Given the description of an element on the screen output the (x, y) to click on. 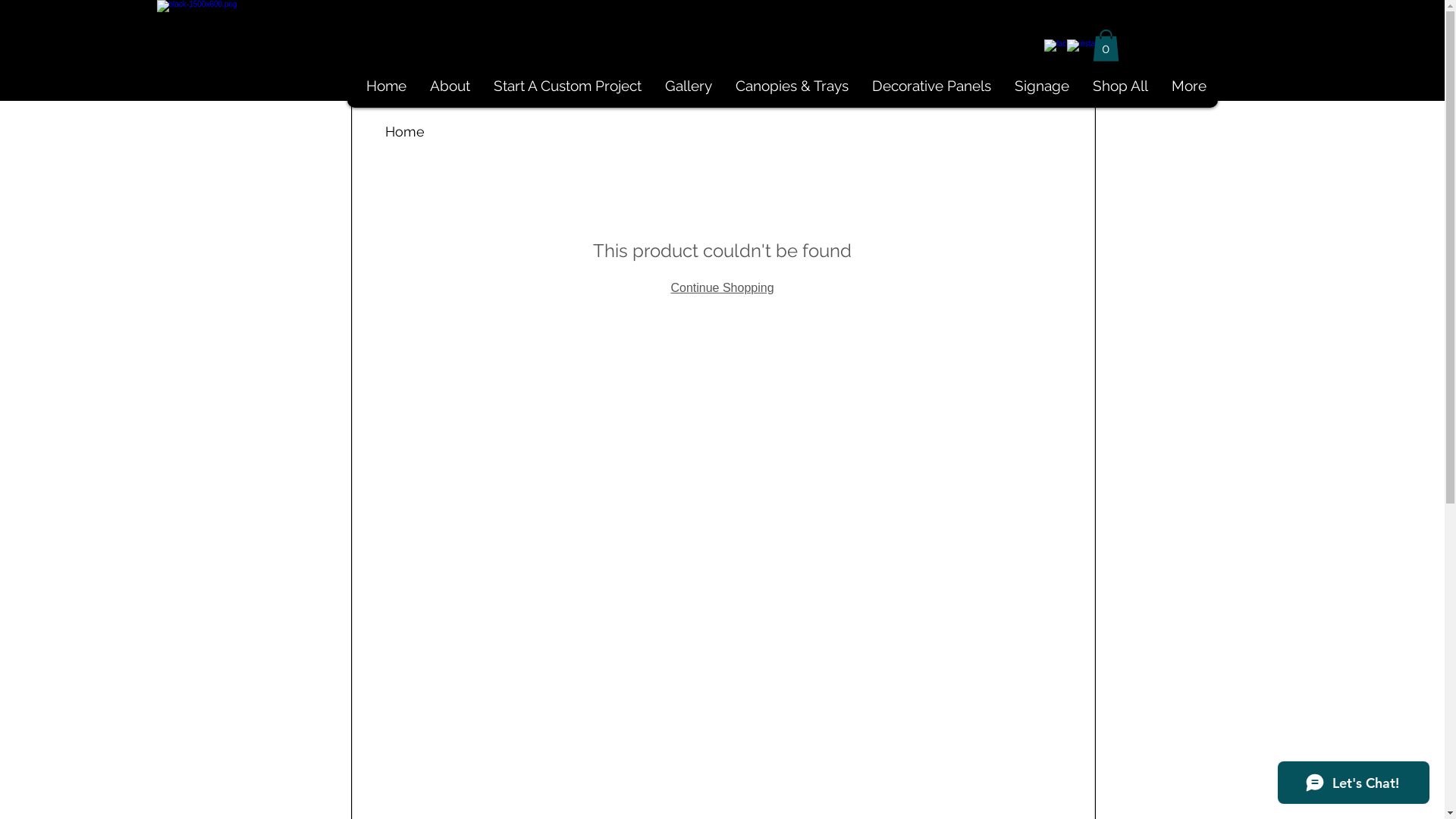
Canopies & Trays Element type: text (791, 85)
Decorative Panels Element type: text (930, 85)
Start A Custom Project Element type: text (566, 85)
Shop All Element type: text (1118, 85)
Home Element type: text (385, 85)
Home Element type: text (404, 131)
Continue Shopping Element type: text (721, 286)
About Element type: text (448, 85)
Gallery Element type: text (687, 85)
0 Element type: text (1105, 45)
Signage Element type: text (1041, 85)
